Given the description of an element on the screen output the (x, y) to click on. 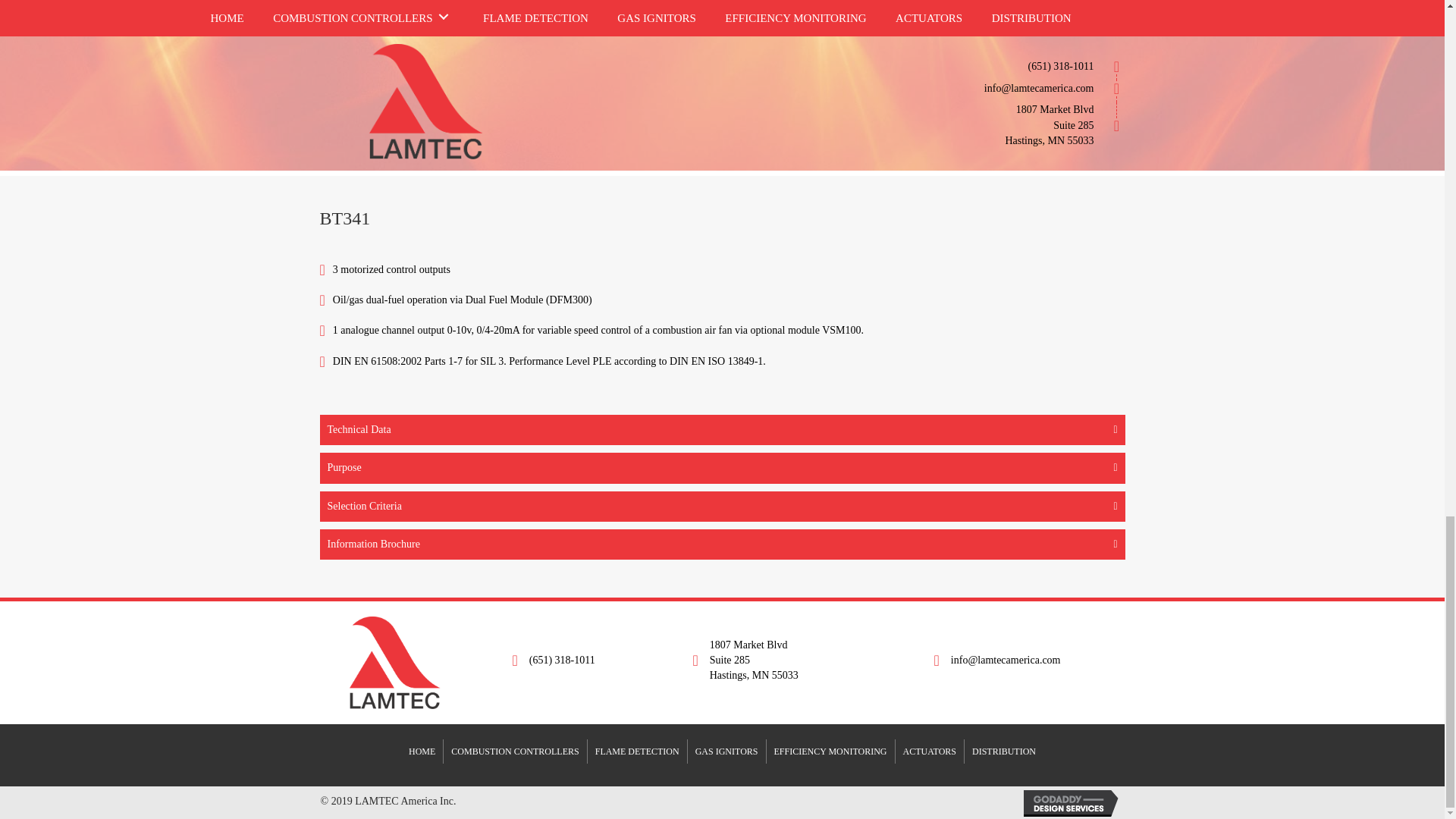
COMBUSTION CONTROLLERS (515, 751)
FLAME DETECTION (637, 751)
HOME (421, 751)
